Given the description of an element on the screen output the (x, y) to click on. 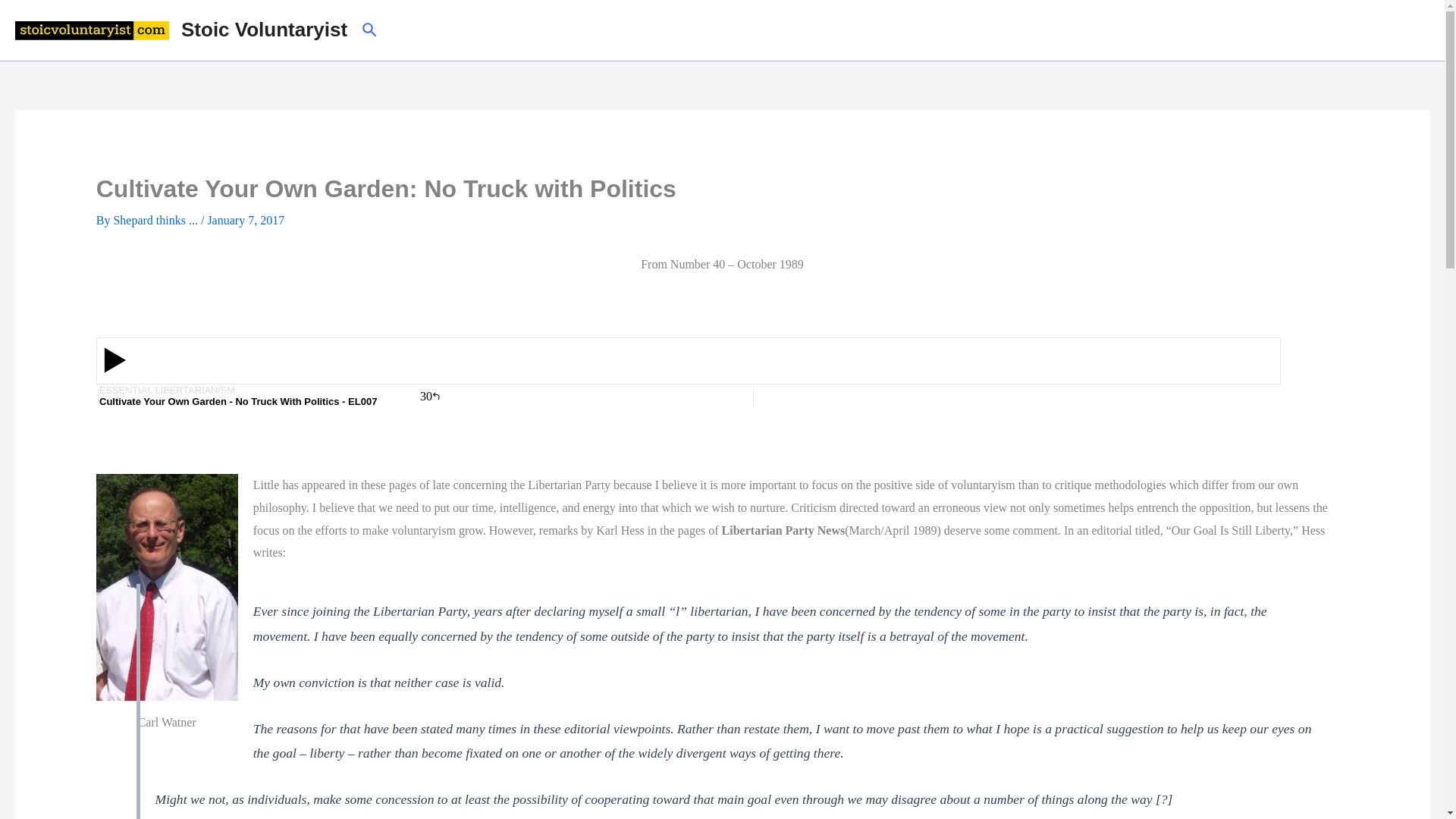
View all posts by Shepard thinks ... (156, 219)
Stoic Voluntaryist (263, 29)
